Given the description of an element on the screen output the (x, y) to click on. 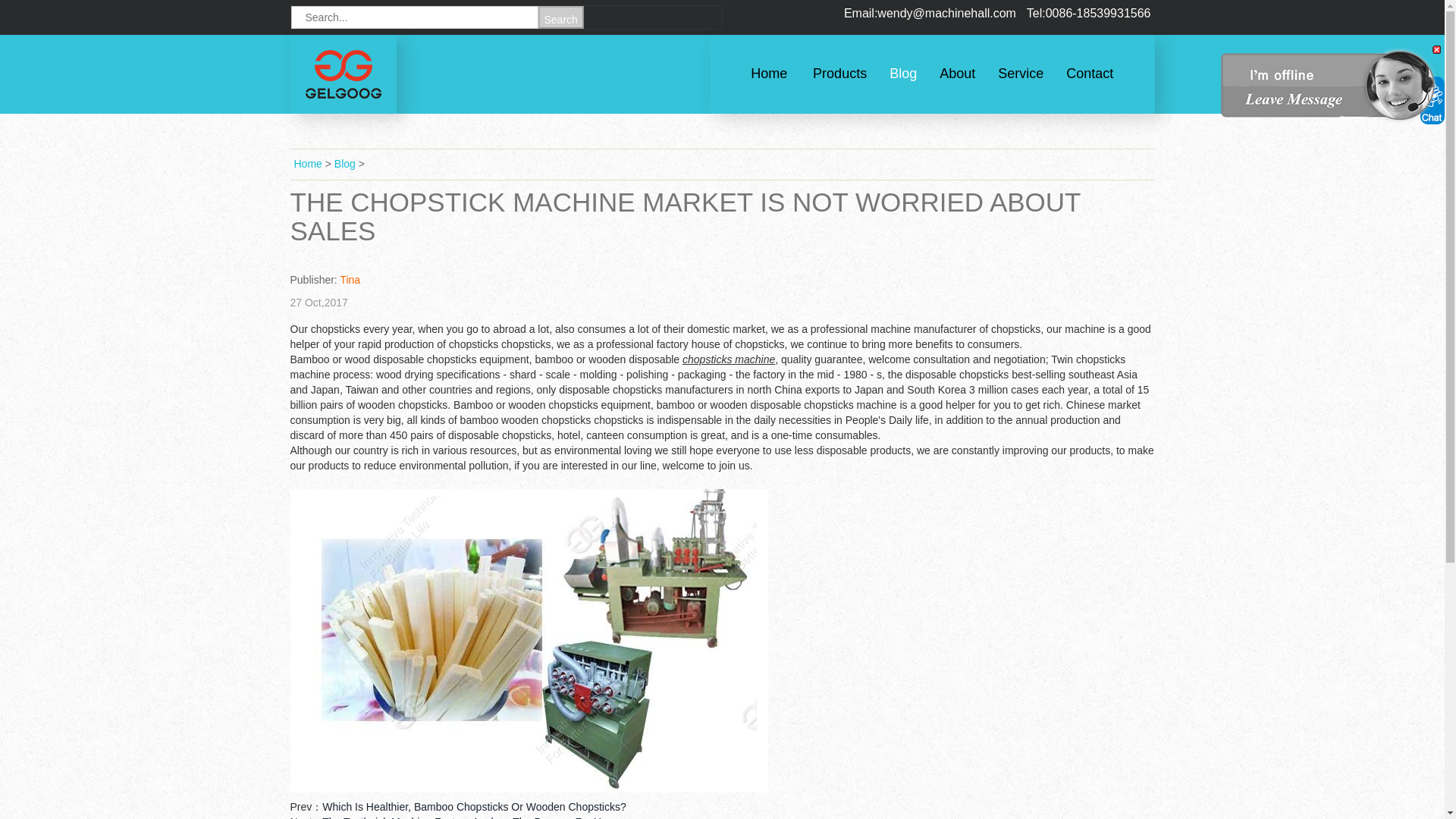
Which Is Healthier, Bamboo Chopsticks Or Wooden Chopsticks? (473, 806)
Products (839, 73)
Service (1020, 73)
Home (307, 163)
Email (930, 12)
Products (839, 73)
Search (560, 16)
Home (769, 73)
Contact (1089, 73)
Blog (903, 73)
